Given the description of an element on the screen output the (x, y) to click on. 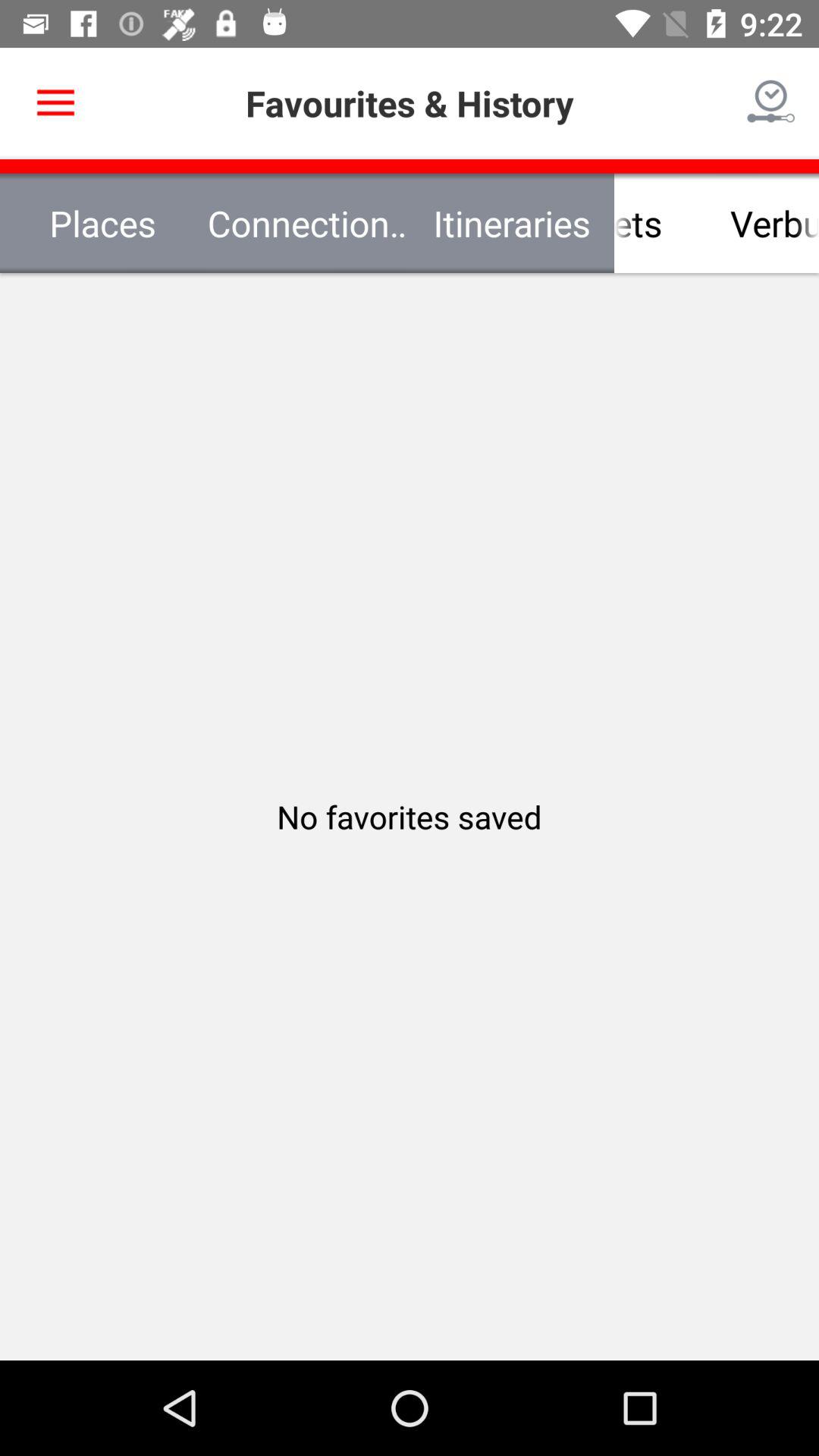
flip to the verbundtickets icon (716, 223)
